Given the description of an element on the screen output the (x, y) to click on. 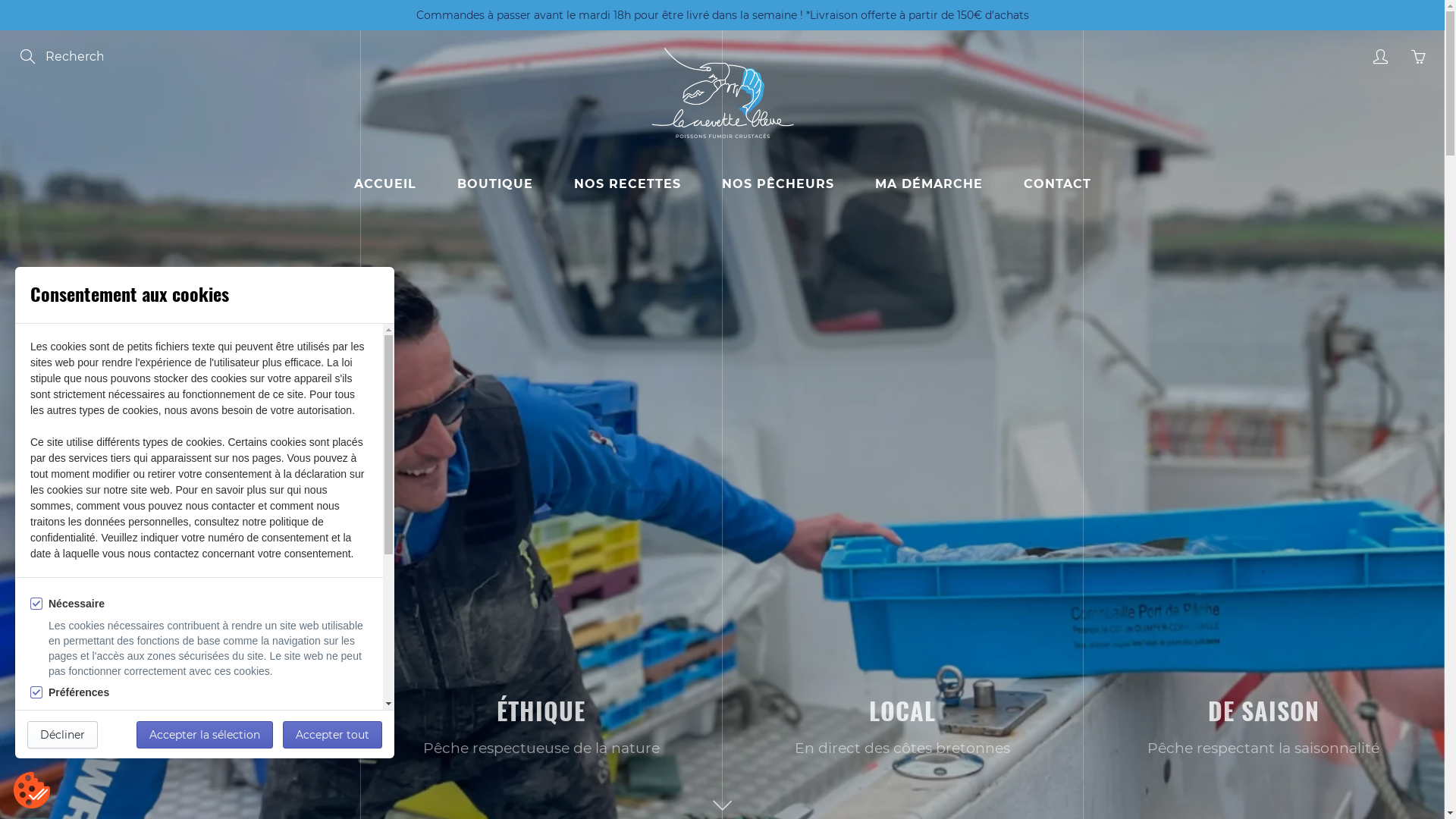
ACCUEIL Element type: text (385, 184)
You have 0 items in your cart Element type: text (1417, 56)
BOUTIQUE Element type: text (495, 184)
Search Element type: text (28, 56)
CONTACT Element type: text (1056, 184)
NOS RECETTES Element type: text (627, 184)
My account Element type: text (1379, 56)
